Given the description of an element on the screen output the (x, y) to click on. 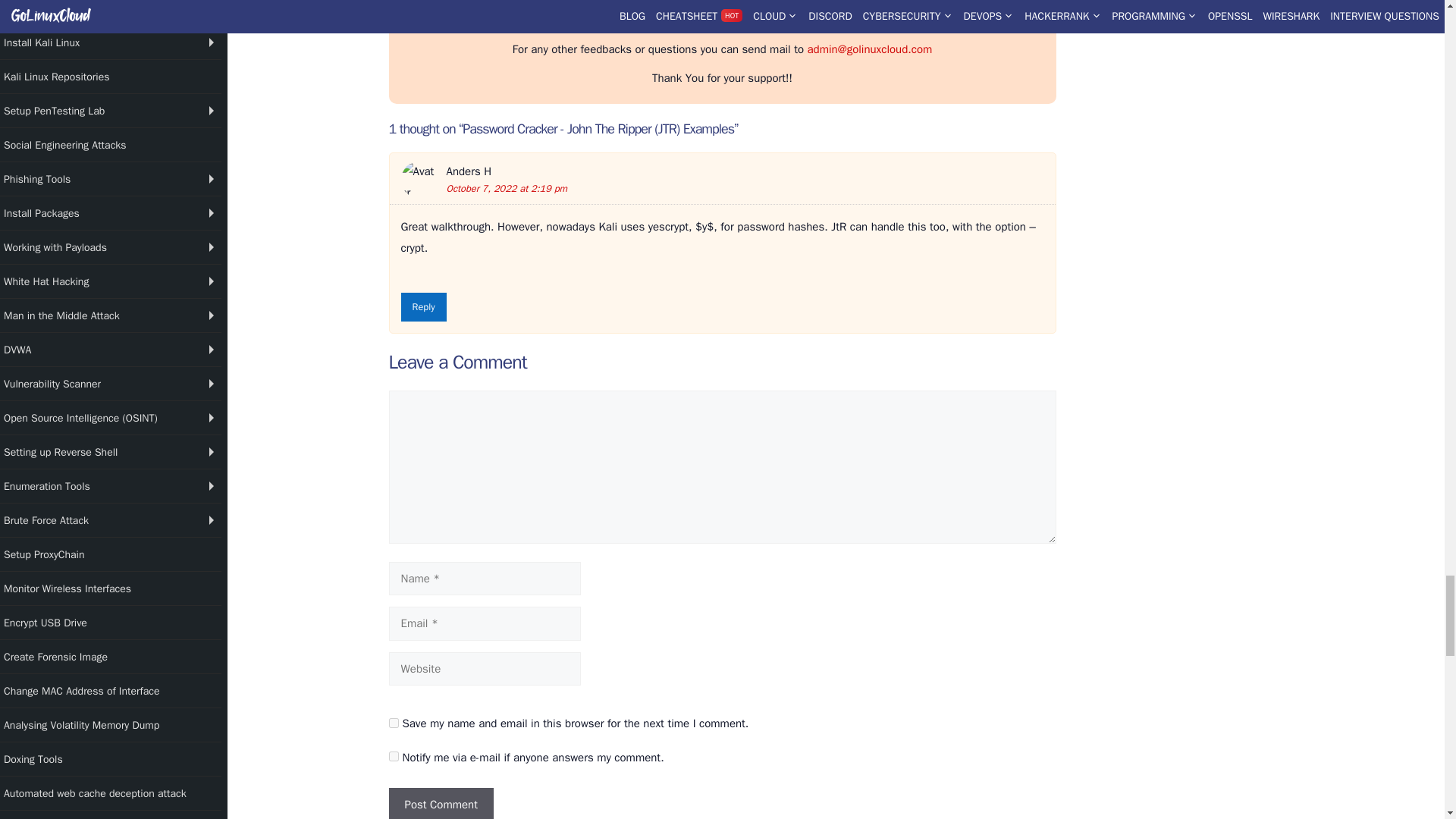
yes (392, 723)
on (392, 756)
Post Comment (440, 803)
